Given the description of an element on the screen output the (x, y) to click on. 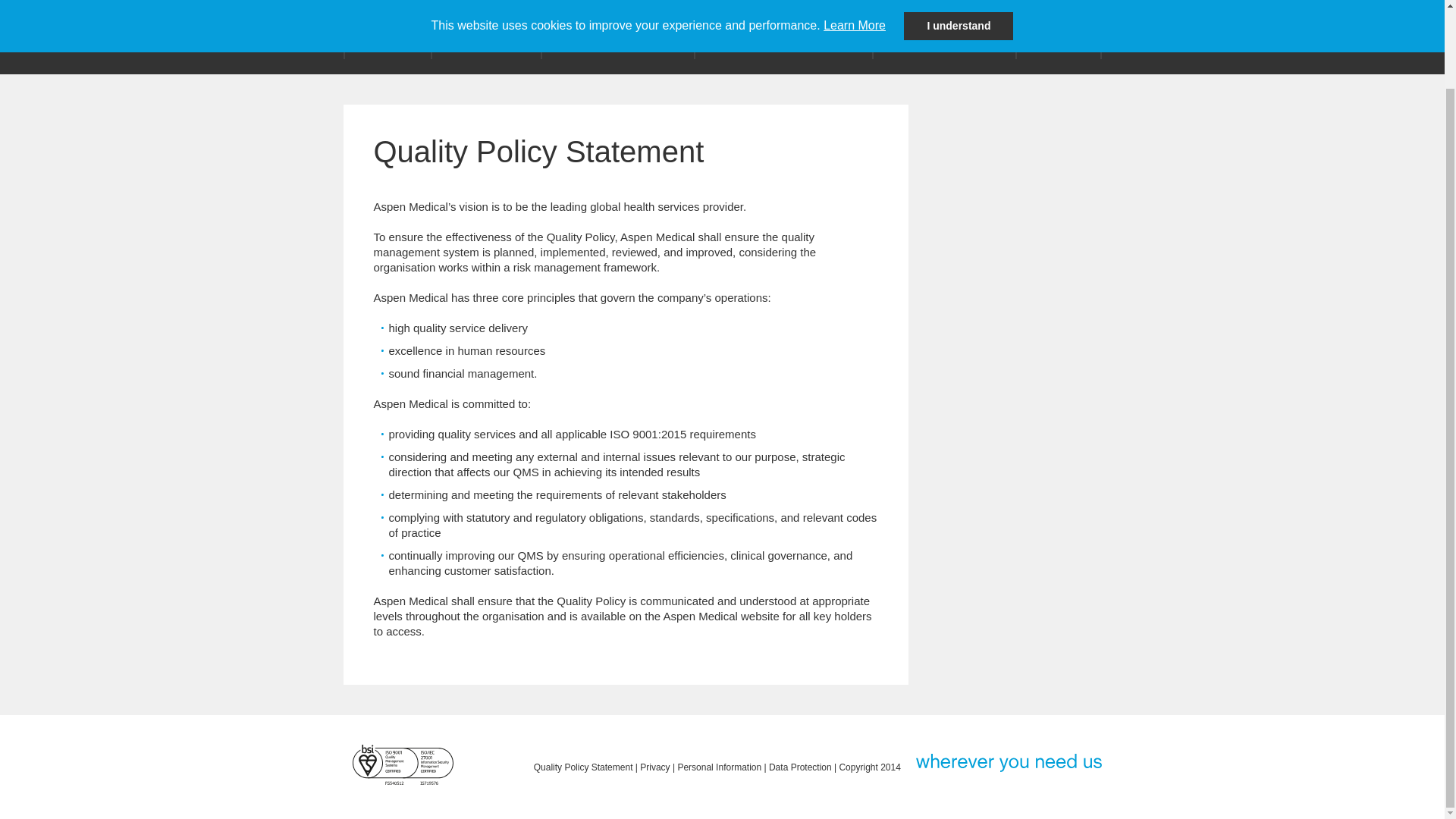
Data Protection (799, 767)
Personal Information (719, 767)
Privacy (654, 767)
Quality Policy Statement (583, 767)
Diagnostics (486, 27)
Our clinic (386, 37)
Occupational health (617, 37)
Equipment and supplies (783, 37)
About us (1057, 37)
On-site healthcare (943, 37)
